Given the description of an element on the screen output the (x, y) to click on. 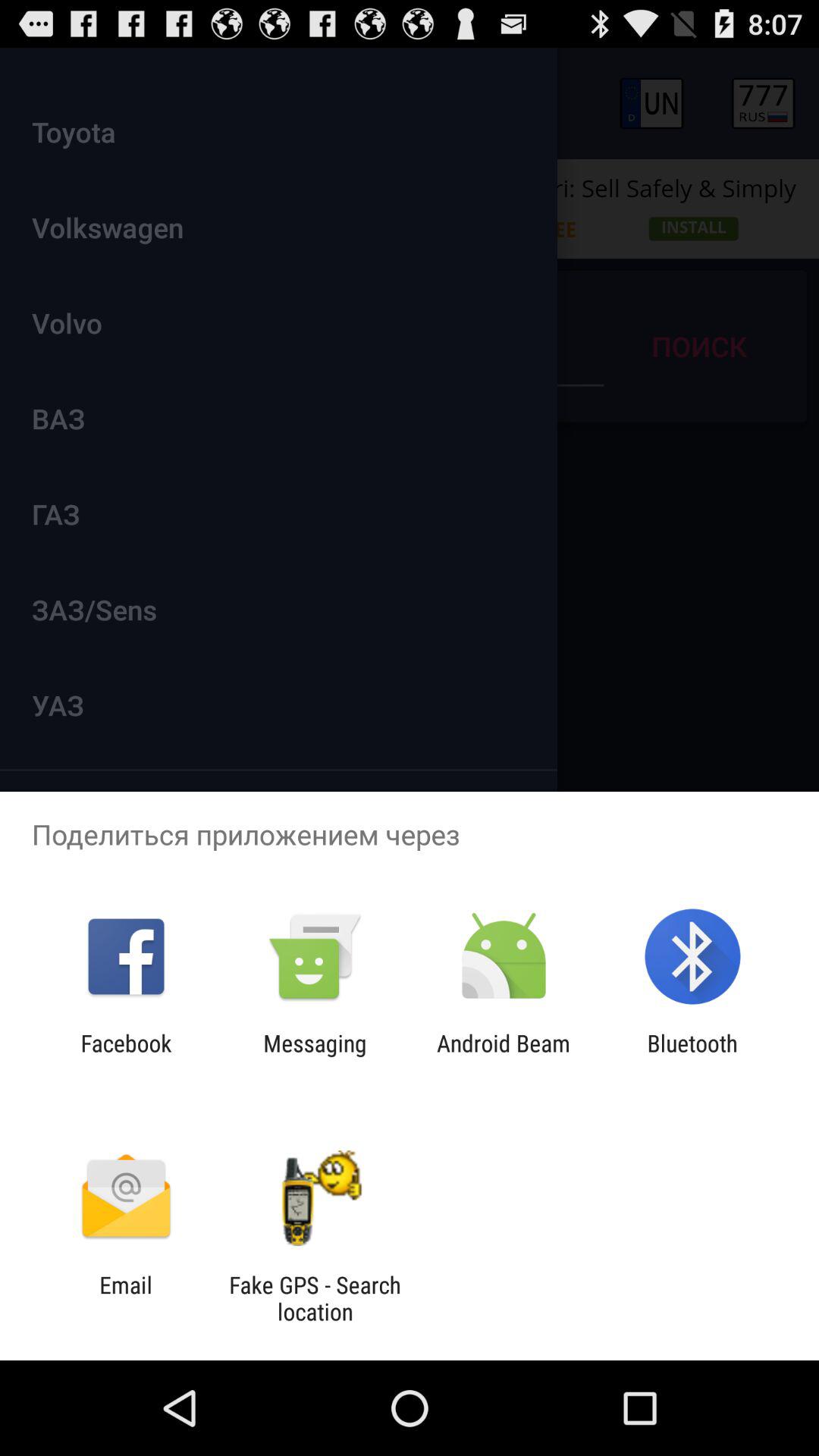
open the icon next to the fake gps search (125, 1298)
